Given the description of an element on the screen output the (x, y) to click on. 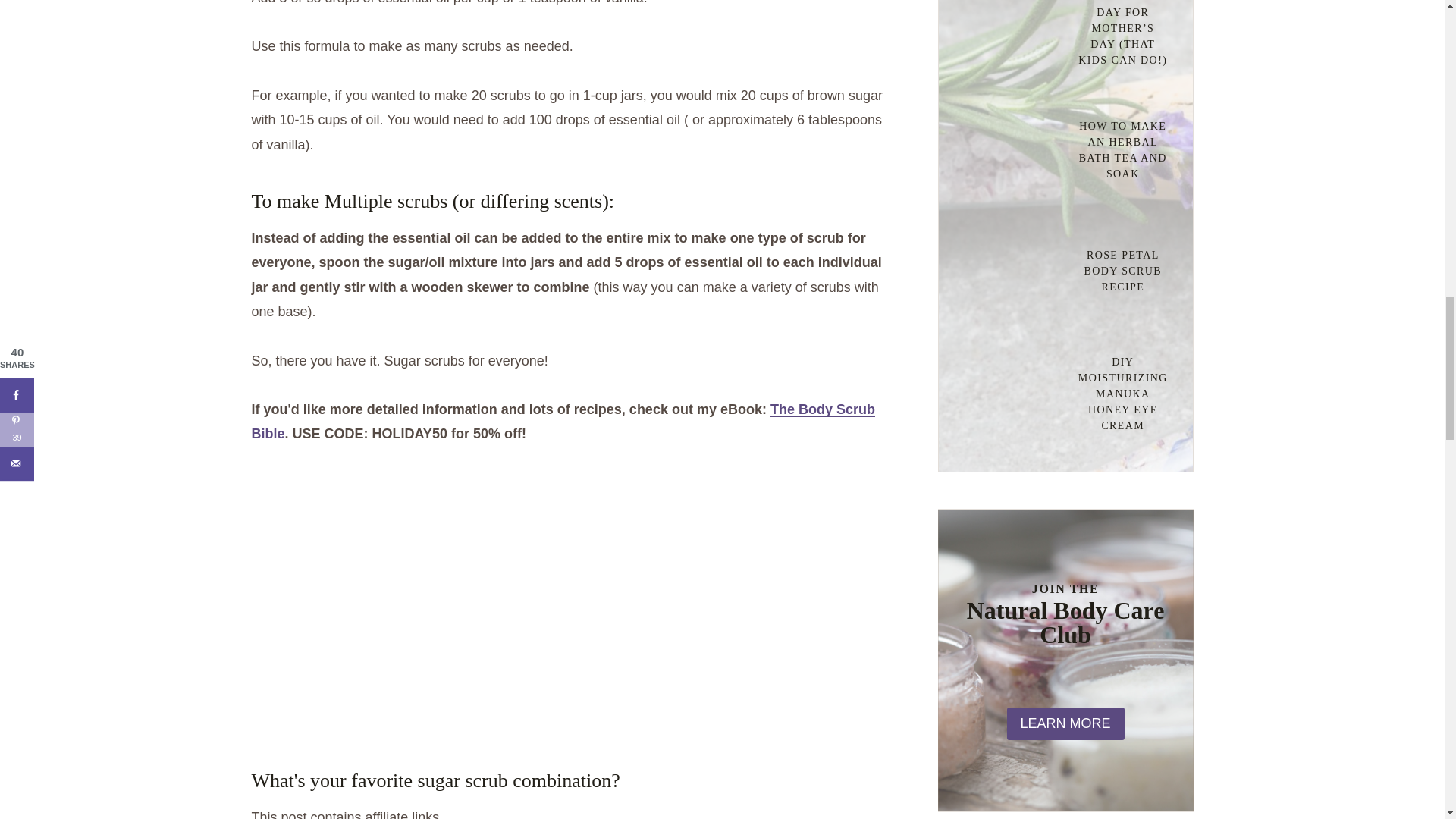
The Body Scrub Bible (563, 421)
